Given the description of an element on the screen output the (x, y) to click on. 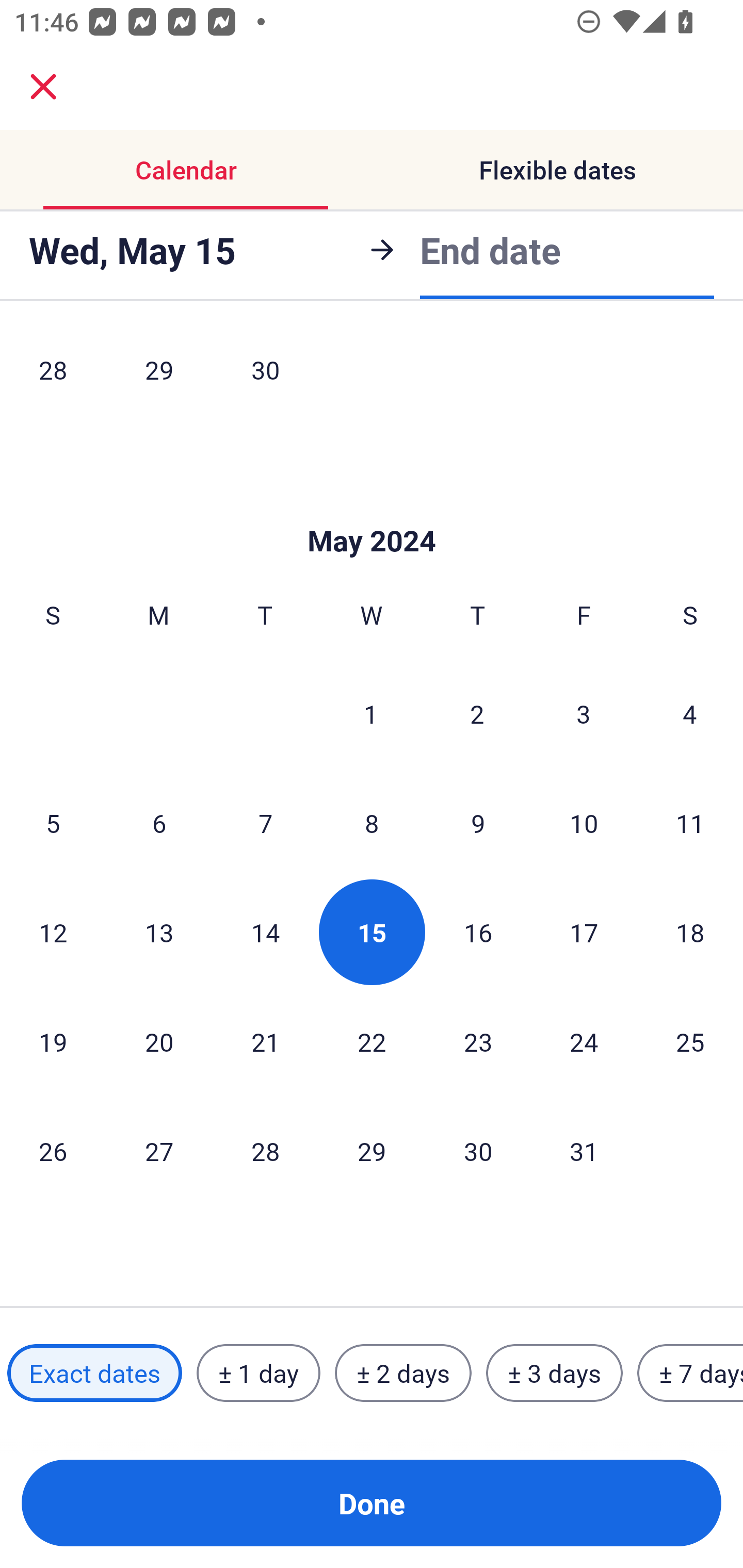
close. (43, 86)
Flexible dates (557, 170)
End date (489, 249)
28 Sunday, April 28, 2024 (53, 375)
29 Monday, April 29, 2024 (159, 375)
30 Tuesday, April 30, 2024 (265, 375)
Skip to Done (371, 510)
1 Wednesday, May 1, 2024 (371, 713)
2 Thursday, May 2, 2024 (477, 713)
3 Friday, May 3, 2024 (583, 713)
4 Saturday, May 4, 2024 (689, 713)
5 Sunday, May 5, 2024 (53, 822)
6 Monday, May 6, 2024 (159, 822)
7 Tuesday, May 7, 2024 (265, 822)
8 Wednesday, May 8, 2024 (371, 822)
9 Thursday, May 9, 2024 (477, 822)
10 Friday, May 10, 2024 (584, 822)
11 Saturday, May 11, 2024 (690, 822)
12 Sunday, May 12, 2024 (53, 931)
13 Monday, May 13, 2024 (159, 931)
14 Tuesday, May 14, 2024 (265, 931)
16 Thursday, May 16, 2024 (477, 931)
17 Friday, May 17, 2024 (584, 931)
18 Saturday, May 18, 2024 (690, 931)
19 Sunday, May 19, 2024 (53, 1041)
20 Monday, May 20, 2024 (159, 1041)
21 Tuesday, May 21, 2024 (265, 1041)
22 Wednesday, May 22, 2024 (371, 1041)
23 Thursday, May 23, 2024 (477, 1041)
24 Friday, May 24, 2024 (584, 1041)
25 Saturday, May 25, 2024 (690, 1041)
26 Sunday, May 26, 2024 (53, 1150)
27 Monday, May 27, 2024 (159, 1150)
28 Tuesday, May 28, 2024 (265, 1150)
29 Wednesday, May 29, 2024 (371, 1150)
30 Thursday, May 30, 2024 (477, 1150)
31 Friday, May 31, 2024 (584, 1150)
Exact dates (94, 1372)
± 1 day (258, 1372)
± 2 days (403, 1372)
± 3 days (553, 1372)
± 7 days (690, 1372)
Done (371, 1502)
